Given the description of an element on the screen output the (x, y) to click on. 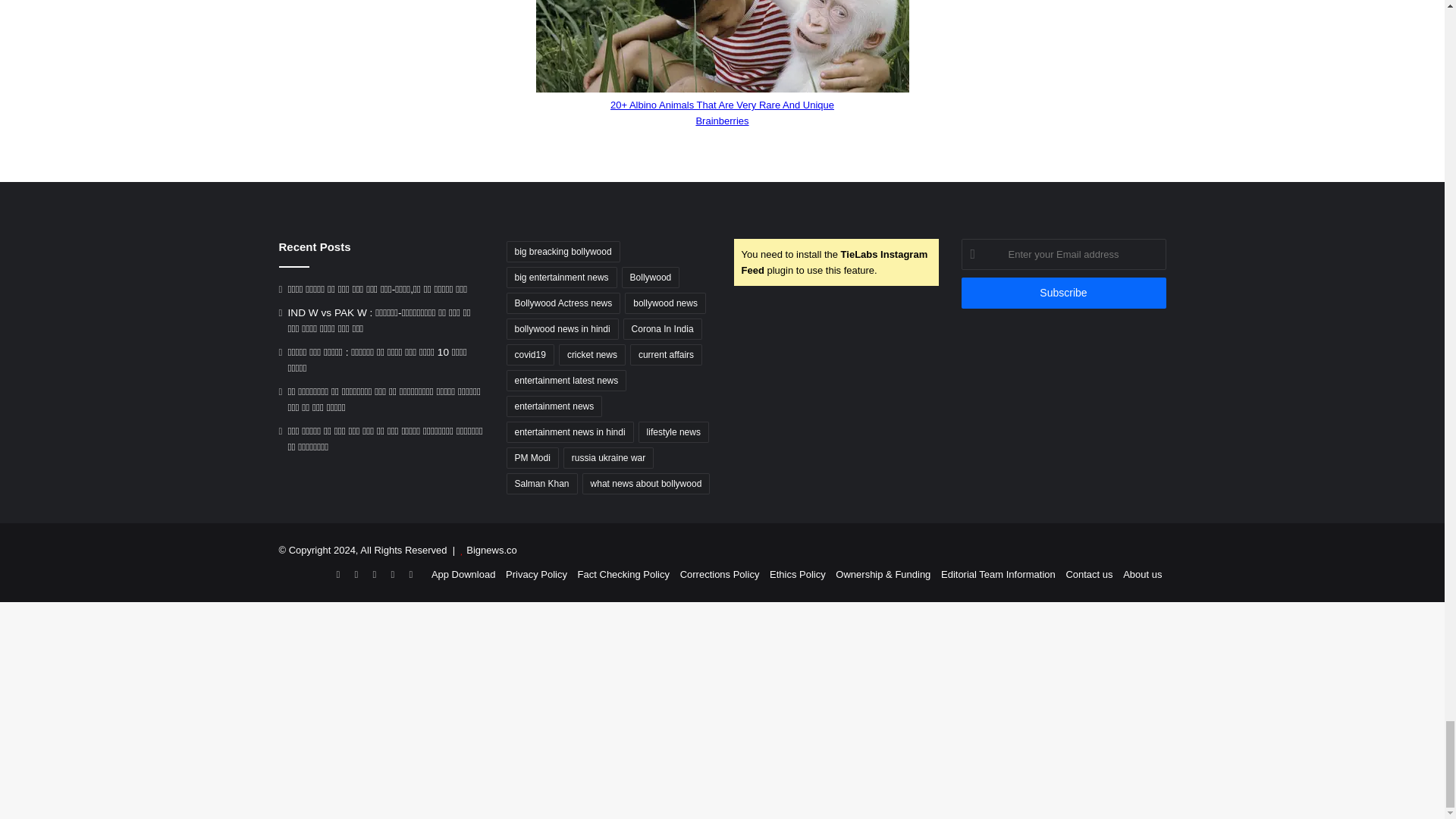
Subscribe (1063, 292)
